Given the description of an element on the screen output the (x, y) to click on. 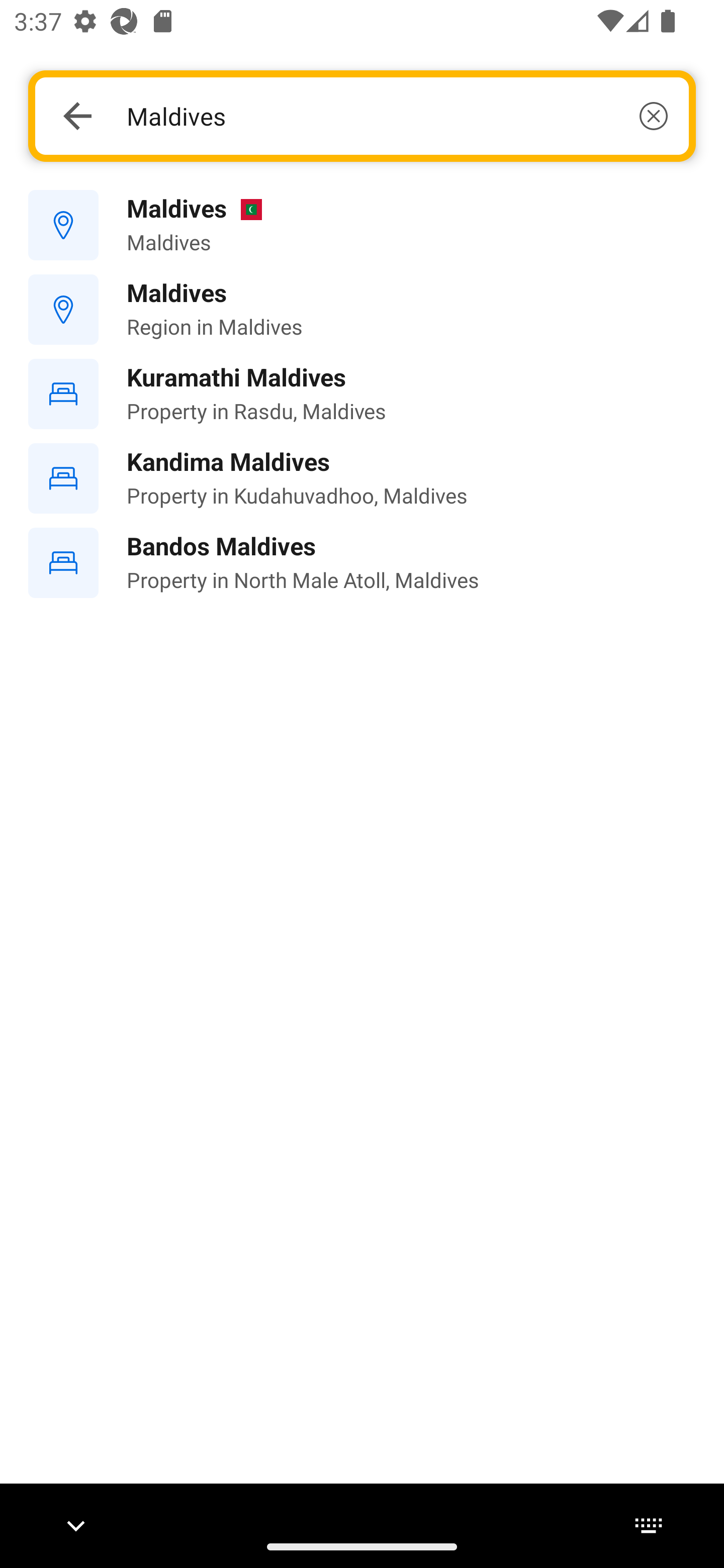
Maldives (396, 115)
Maldives (362, 225)
Maldives Region in Maldives (362, 309)
Kuramathi Maldives Property in Rasdu, Maldives (362, 393)
